Given the description of an element on the screen output the (x, y) to click on. 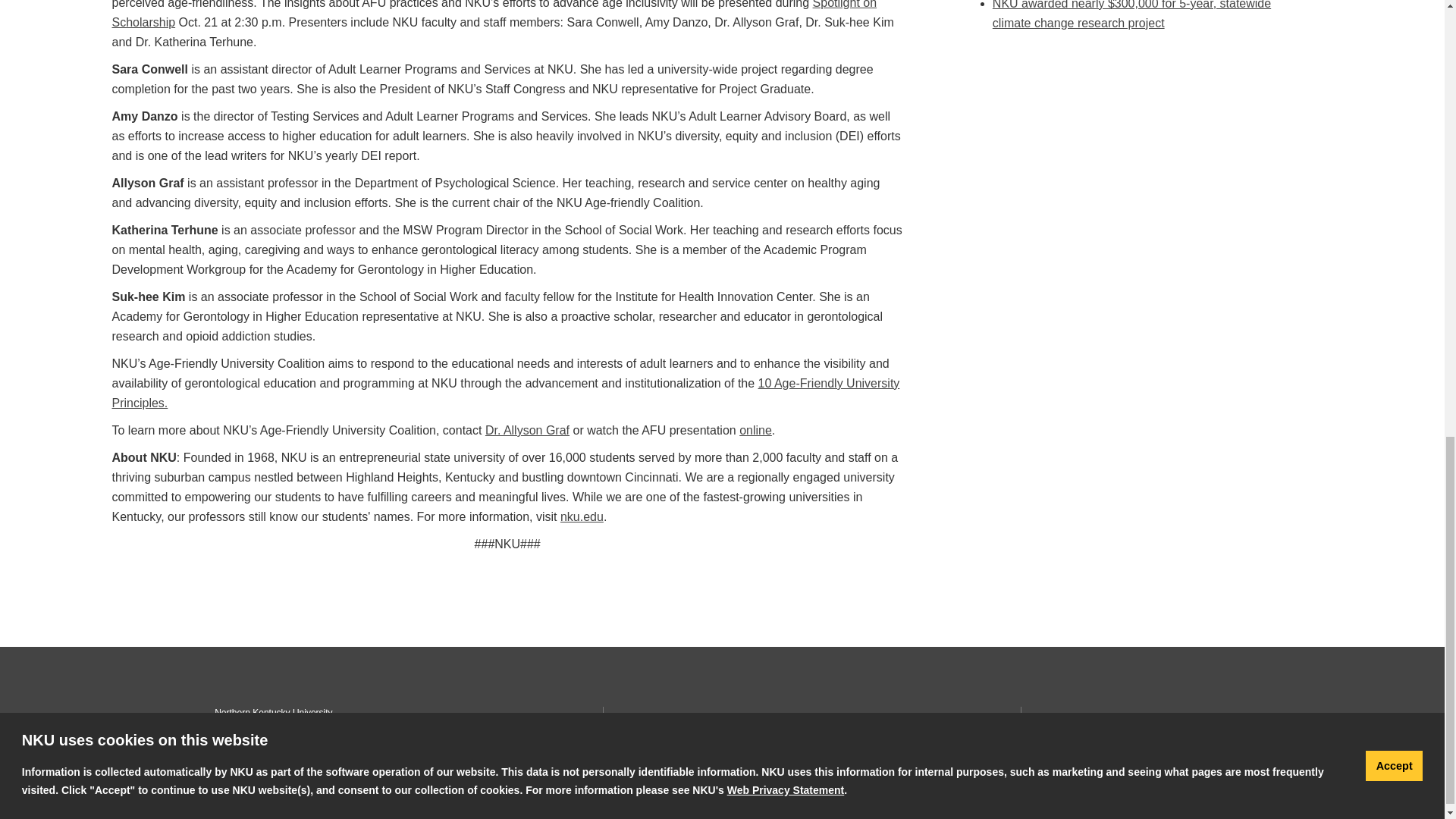
nku.edu (582, 516)
Spotlight on Scholarship (494, 14)
Dr. Allyson Graf (526, 430)
10 Age-Friendly University Principles. (505, 392)
online (755, 430)
